Given the description of an element on the screen output the (x, y) to click on. 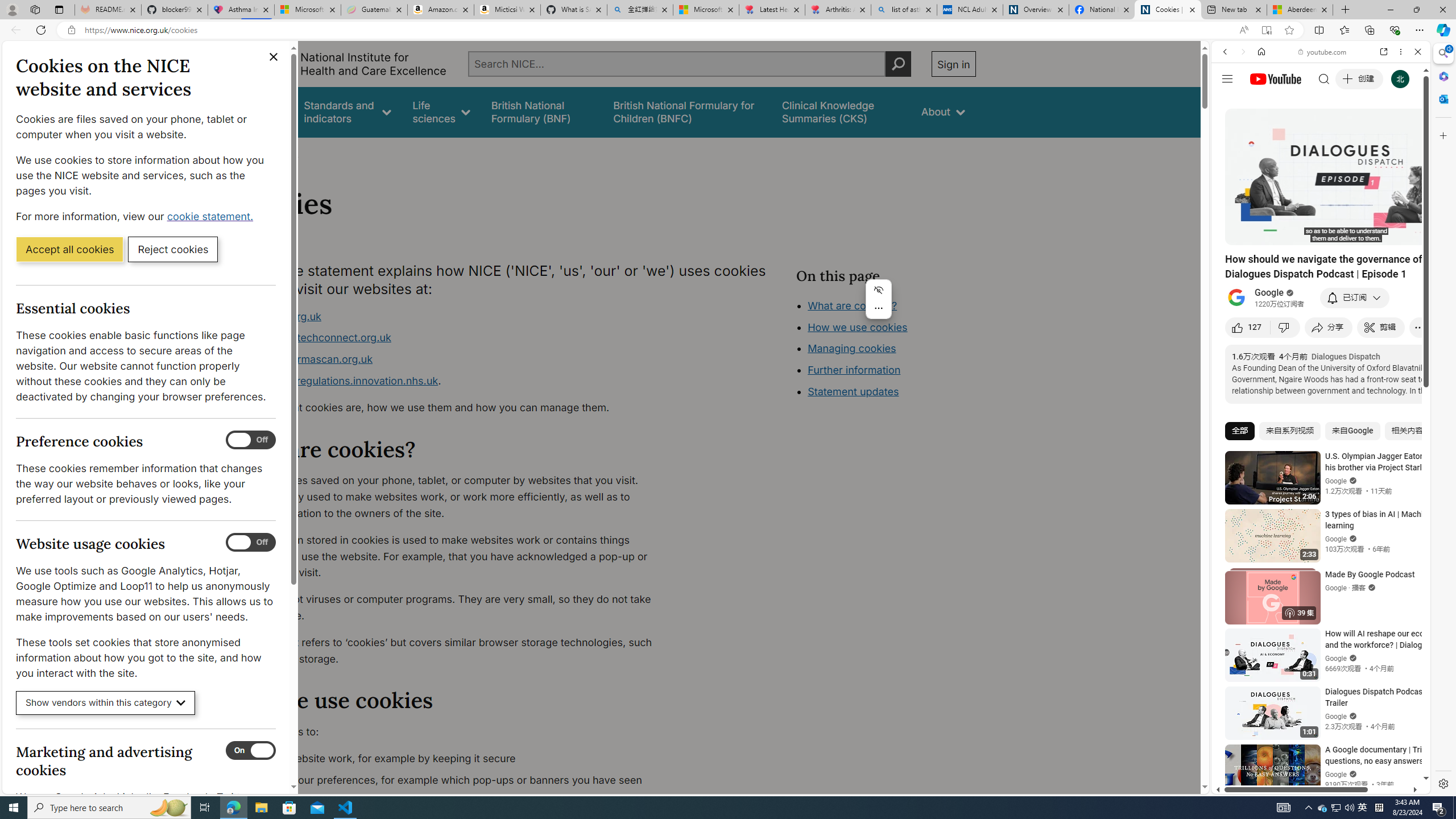
www.nice.org.uk (452, 316)
Home> (246, 152)
you (1315, 755)
false (841, 111)
Close cookie banner (273, 56)
